Given the description of an element on the screen output the (x, y) to click on. 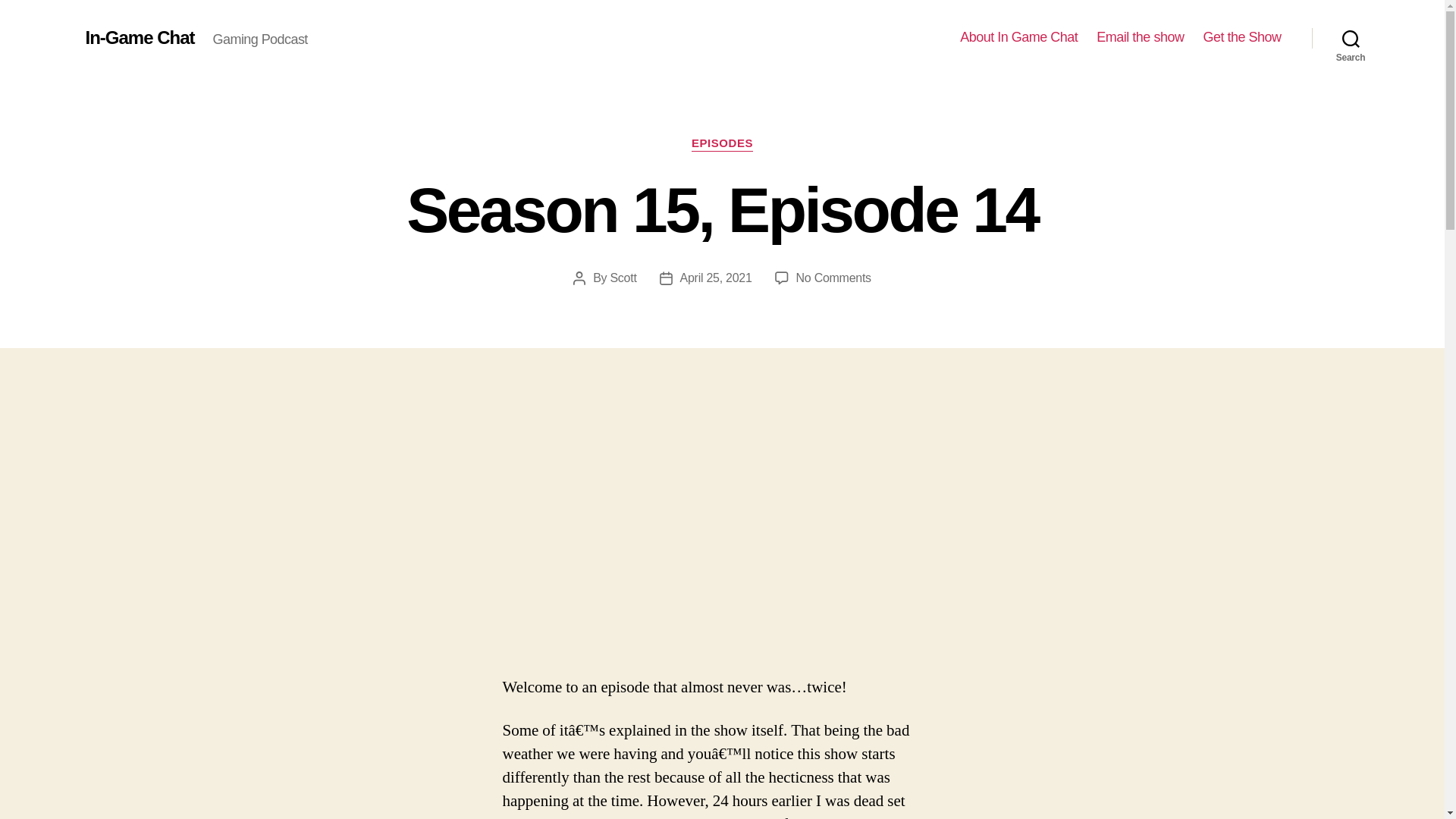
Get the Show (1241, 37)
EPISODES (721, 143)
In-Game Chat (138, 37)
Scott (833, 277)
In-Game Chat: Season 15, Episode 14 (623, 277)
About In Game Chat (722, 532)
Email the show (1018, 37)
April 25, 2021 (1139, 37)
Search (715, 277)
